Given the description of an element on the screen output the (x, y) to click on. 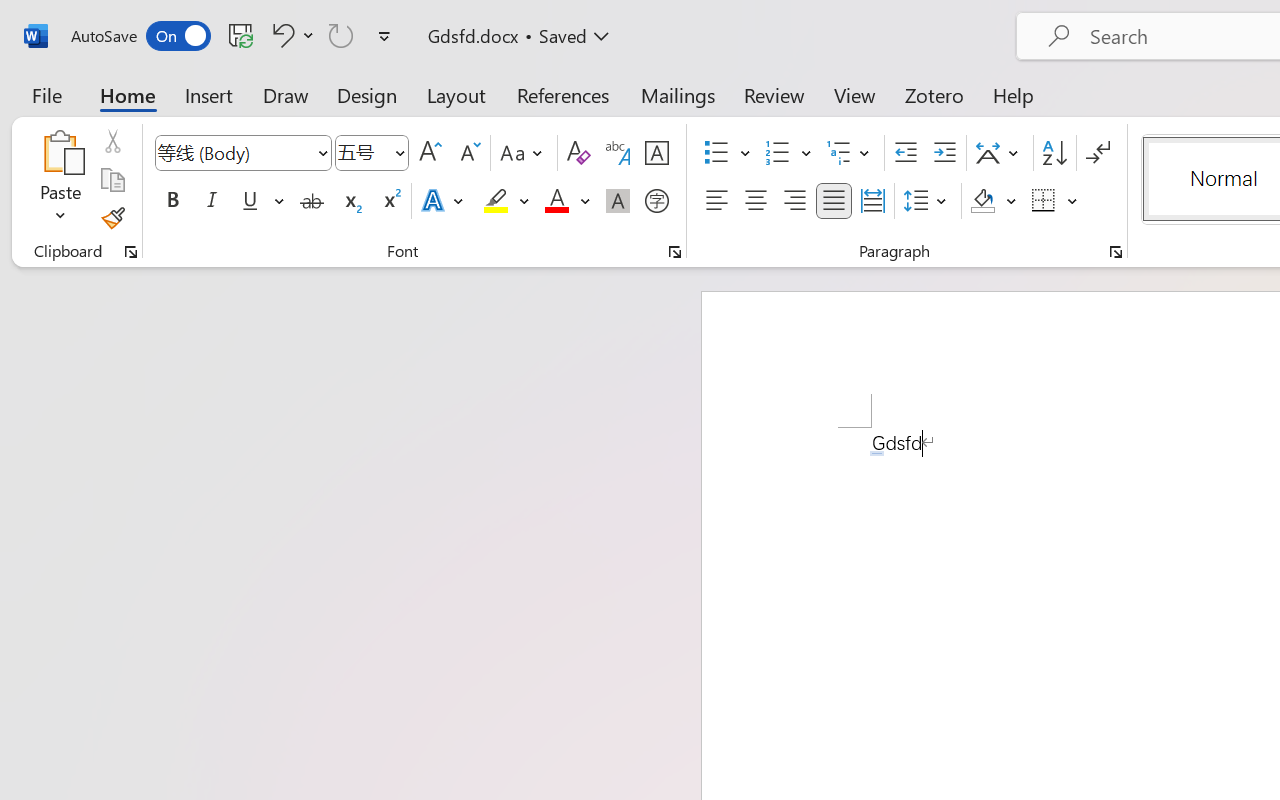
Format Painter (112, 218)
Undo AutoCorrect (280, 35)
Decrease Indent (906, 153)
Copy (112, 179)
Strikethrough (312, 201)
Multilevel List (850, 153)
Show/Hide Editing Marks (1098, 153)
Change Case (524, 153)
Text Effects and Typography (444, 201)
Clear Formatting (578, 153)
